Given the description of an element on the screen output the (x, y) to click on. 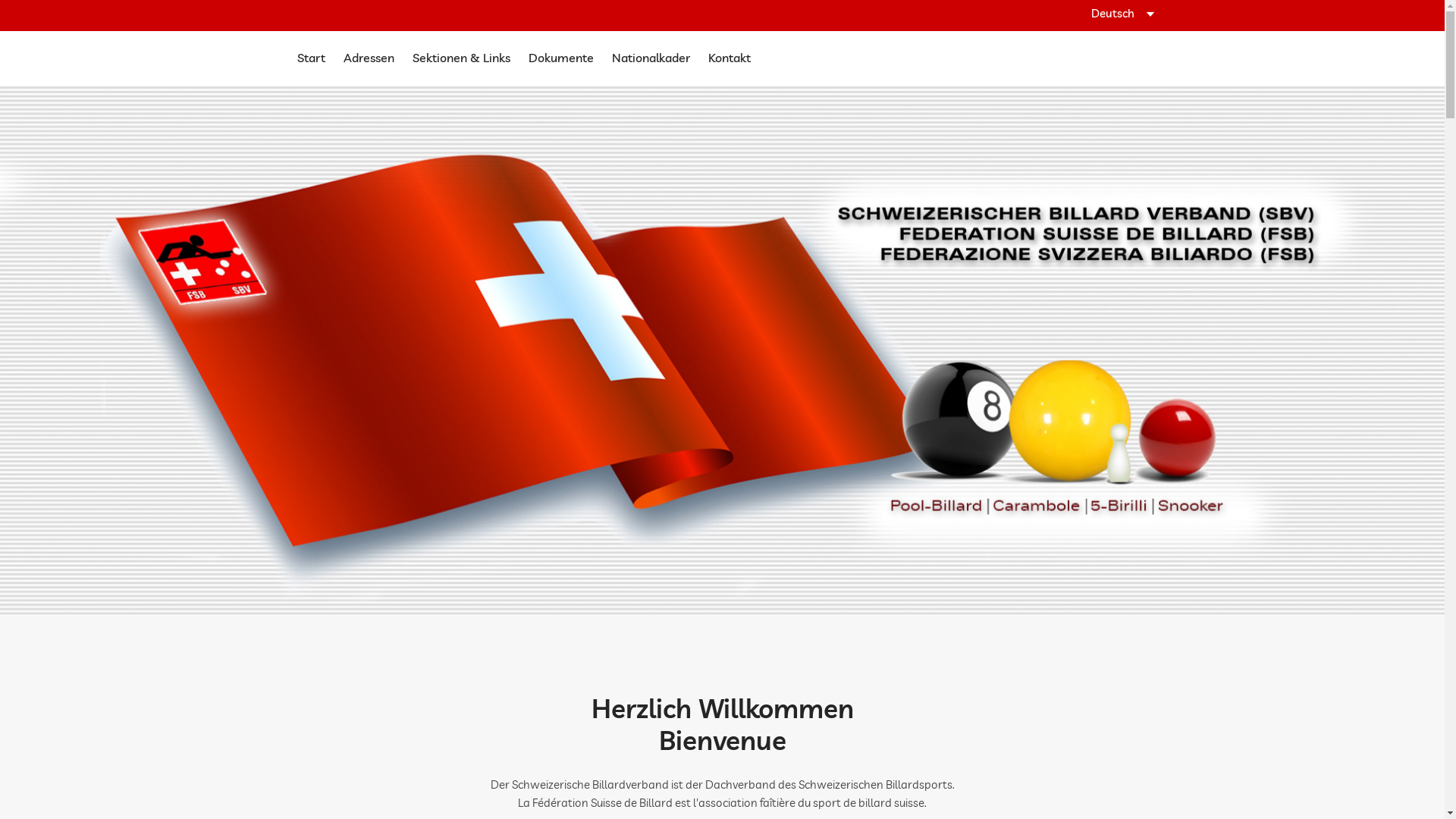
Adressen Element type: text (367, 58)
Nationalkader Element type: text (650, 58)
Start Element type: text (311, 58)
Dokumente Element type: text (560, 58)
Kontakt Element type: text (729, 58)
Sektionen & Links Element type: text (461, 58)
